Given the description of an element on the screen output the (x, y) to click on. 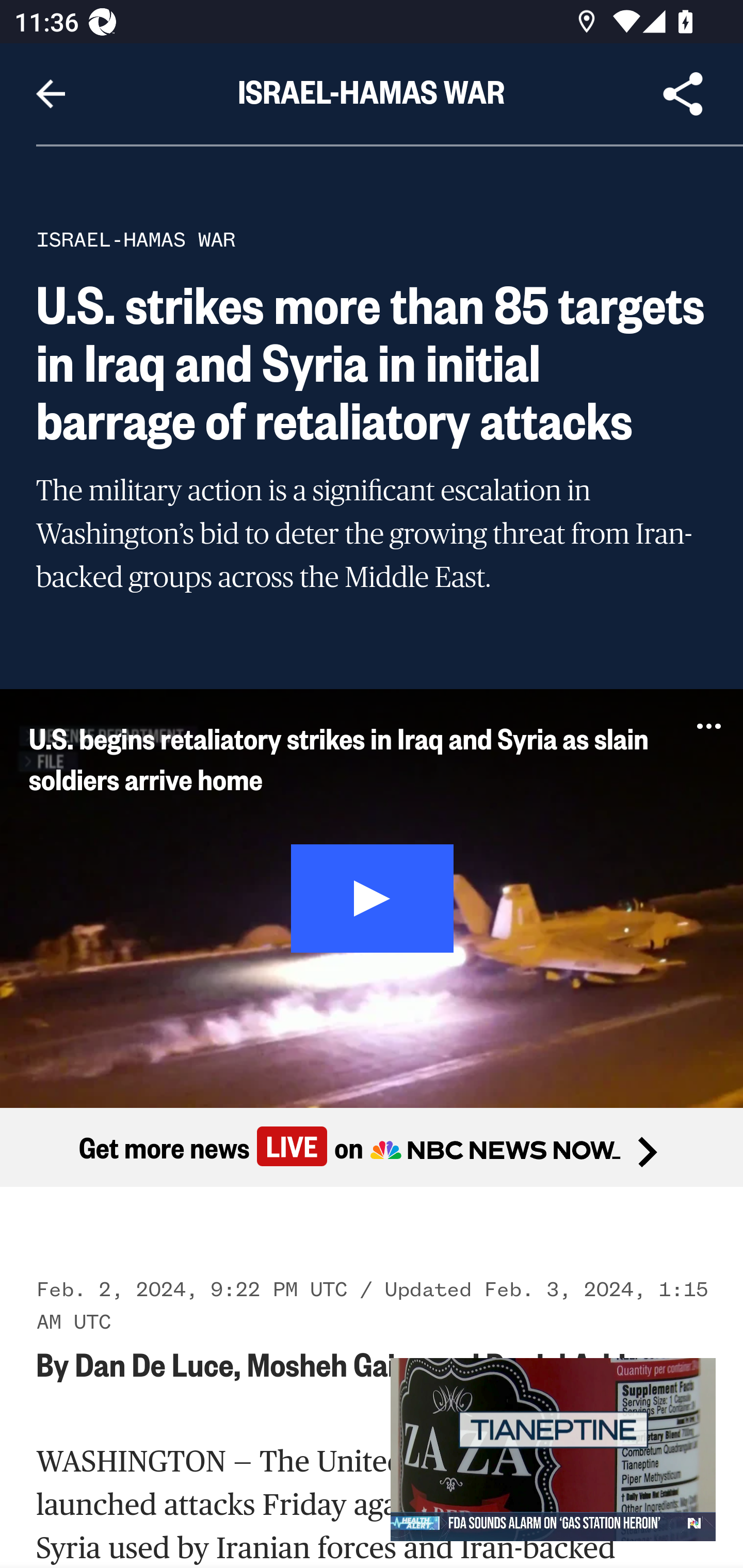
Navigate up (50, 93)
Share Article, button (683, 94)
ISRAEL-HAMAS WAR (136, 239)
Get more news Live on Get more news Live on (371, 1147)
